Given the description of an element on the screen output the (x, y) to click on. 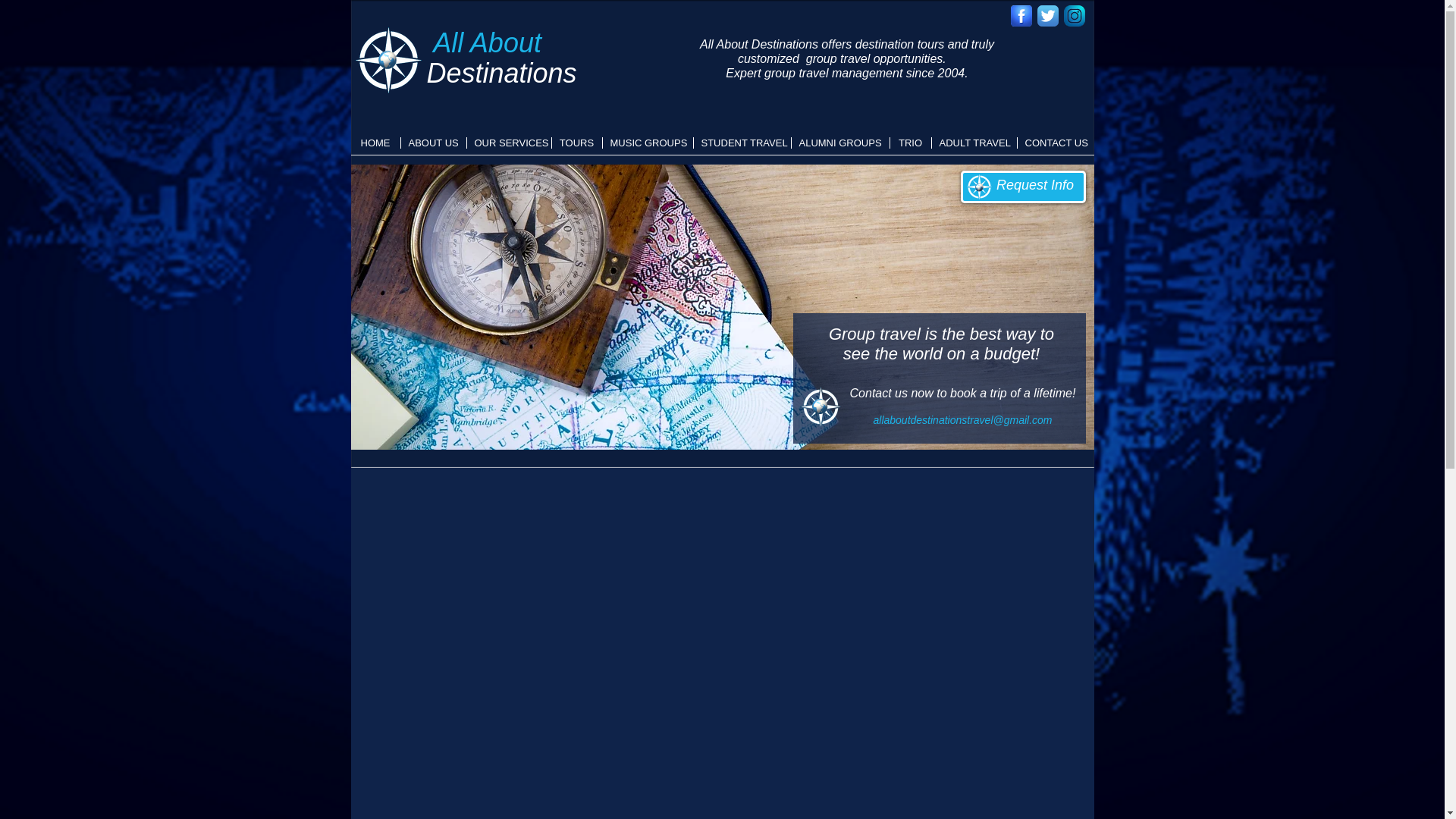
OUR SERVICES (509, 142)
MUSIC GROUPS (647, 142)
HOME (374, 142)
TRIO (910, 142)
All About (486, 42)
ALUMNI GROUPS (840, 142)
STUDENT TRAVEL (741, 142)
Destinations (501, 72)
ABOUT US (432, 142)
TOURS (576, 142)
